Given the description of an element on the screen output the (x, y) to click on. 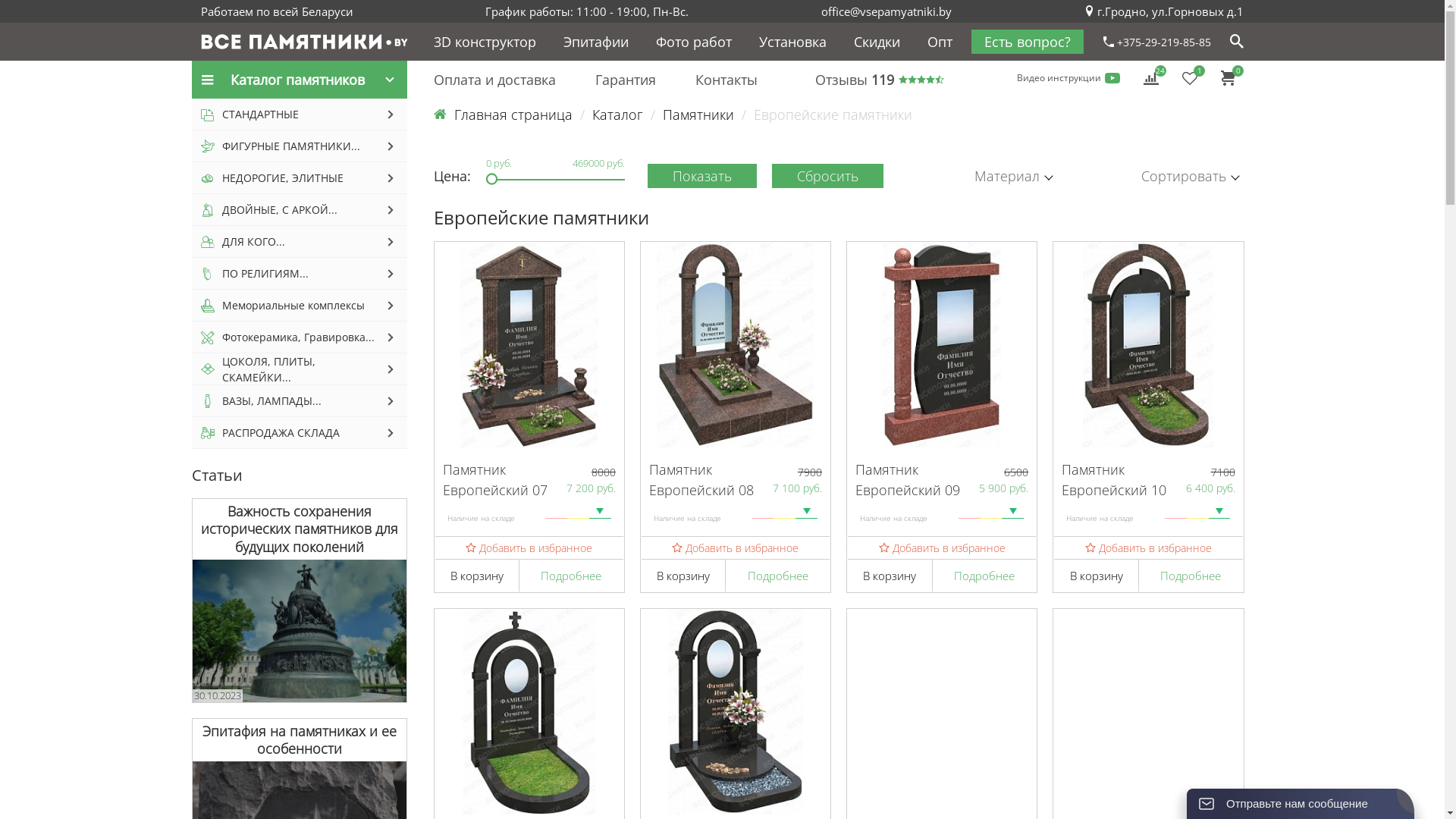
office@vsepamyatniki.by Element type: text (886, 10)
0 Element type: text (1228, 76)
24 Element type: text (1150, 76)
1 Element type: text (1189, 76)
+375-29-219-85-85 Element type: text (1157, 41)
